Given the description of an element on the screen output the (x, y) to click on. 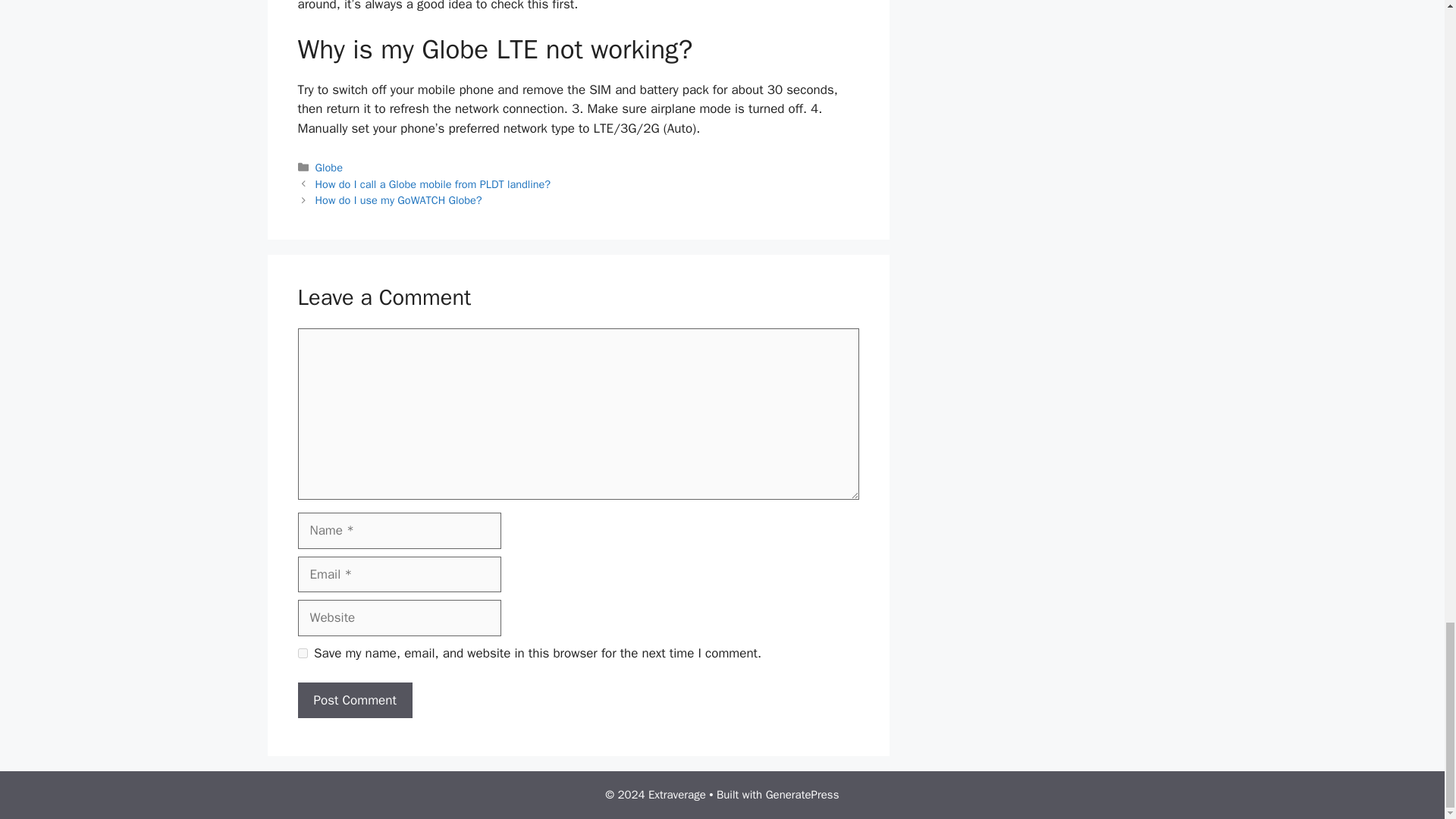
Post Comment (354, 700)
yes (302, 653)
Globe (328, 167)
Post Comment (354, 700)
GeneratePress (802, 794)
How do I use my GoWATCH Globe? (398, 200)
How do I call a Globe mobile from PLDT landline? (433, 183)
